Given the description of an element on the screen output the (x, y) to click on. 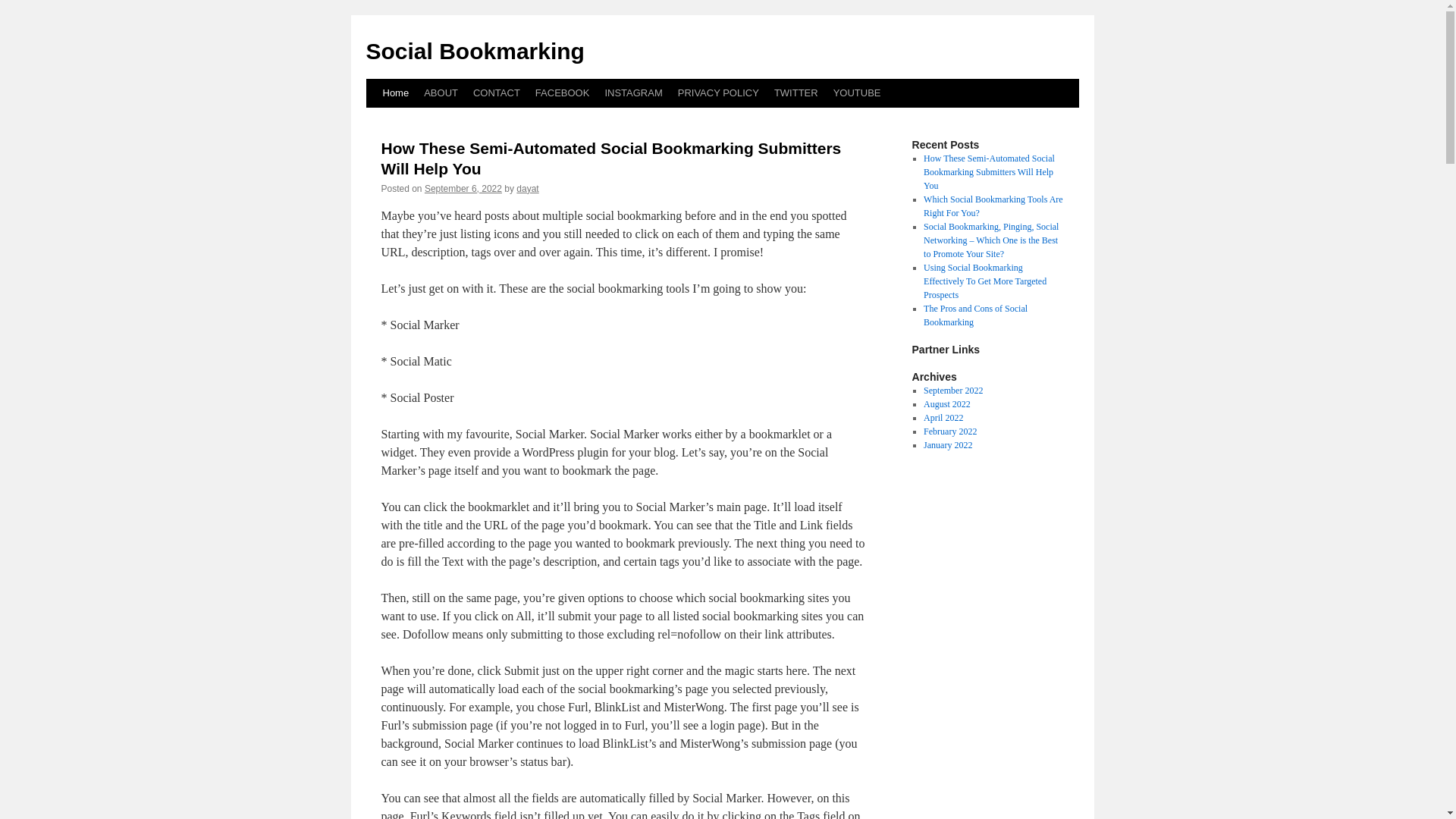
April 2022 (942, 417)
View all posts by dayat (527, 188)
The Pros and Cons of Social Bookmarking (975, 315)
INSTAGRAM (632, 92)
PRIVACY POLICY (718, 92)
FACEBOOK (561, 92)
CONTACT (496, 92)
Which Social Bookmarking Tools Are Right For You? (992, 206)
September 2022 (952, 389)
INSTAGRAM (632, 92)
